Given the description of an element on the screen output the (x, y) to click on. 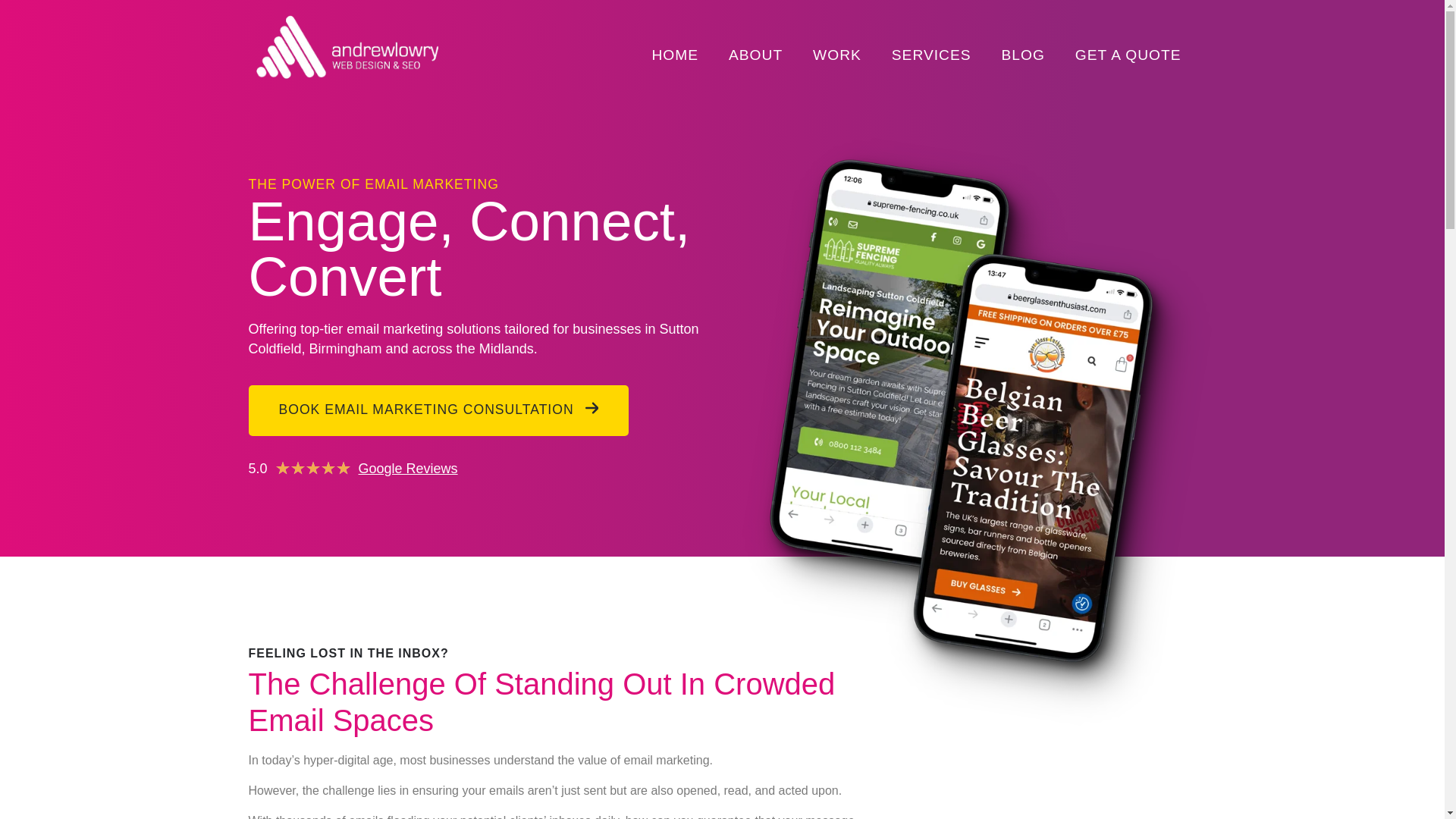
BLOG (1022, 54)
Book a FREE SEO consultation (438, 410)
BOOK EMAIL MARKETING CONSULTATION (438, 410)
Google Reviews (408, 468)
HOME (674, 54)
WORK (836, 54)
GET A QUOTE (1127, 54)
SERVICES (931, 54)
Read my Google Reviews (408, 468)
ABOUT (755, 54)
